Given the description of an element on the screen output the (x, y) to click on. 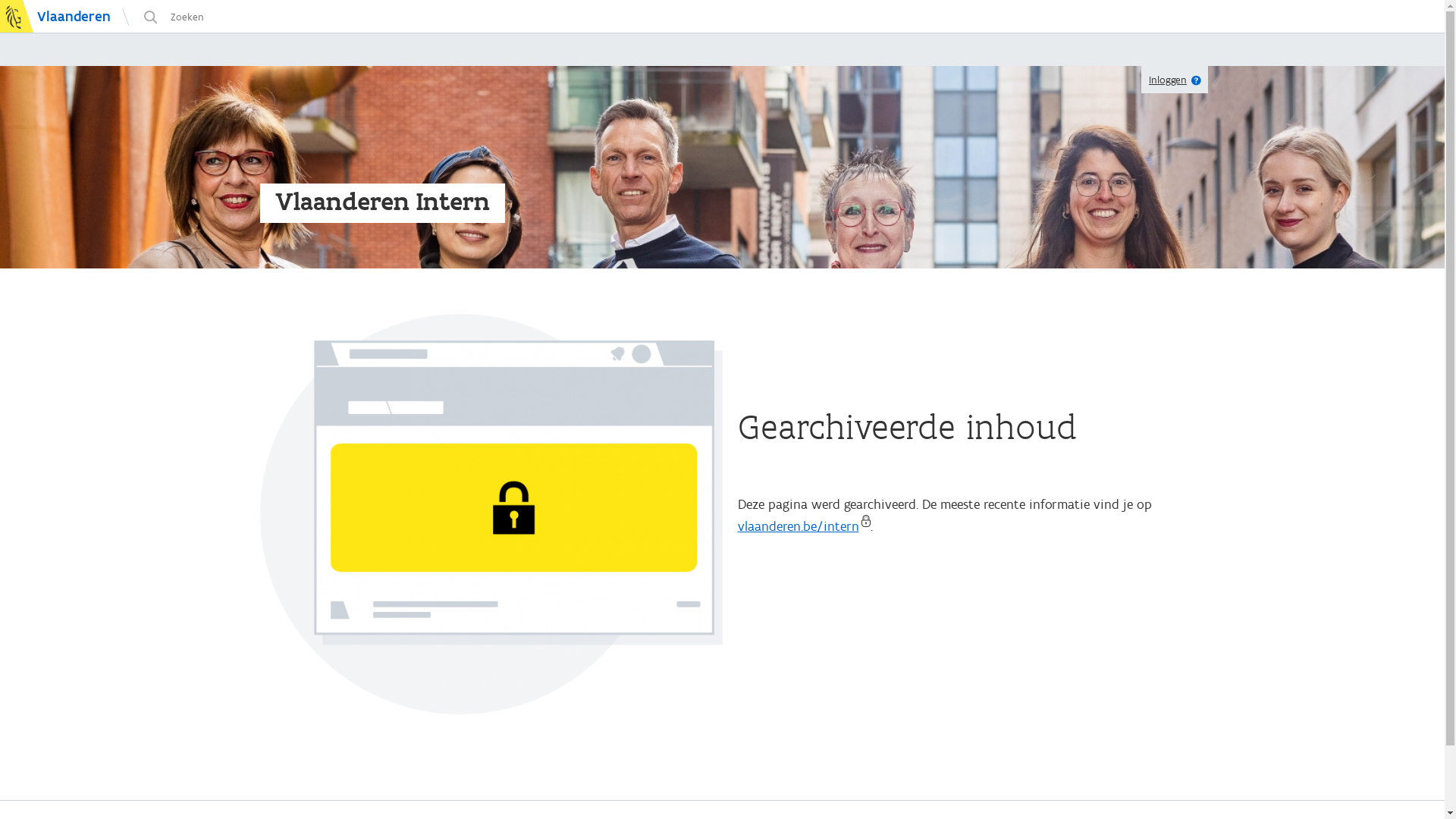
Overslaan en naar de inhoud gaan Element type: text (259, 0)
Vlaanderen Element type: text (55, 16)
Inloggen Element type: text (1167, 79)
Vlaanderen Intern Element type: text (381, 200)
Hulp nodig met inloggen? Element type: hover (1196, 79)
vlaanderen.be/intern Element type: text (803, 525)
